Given the description of an element on the screen output the (x, y) to click on. 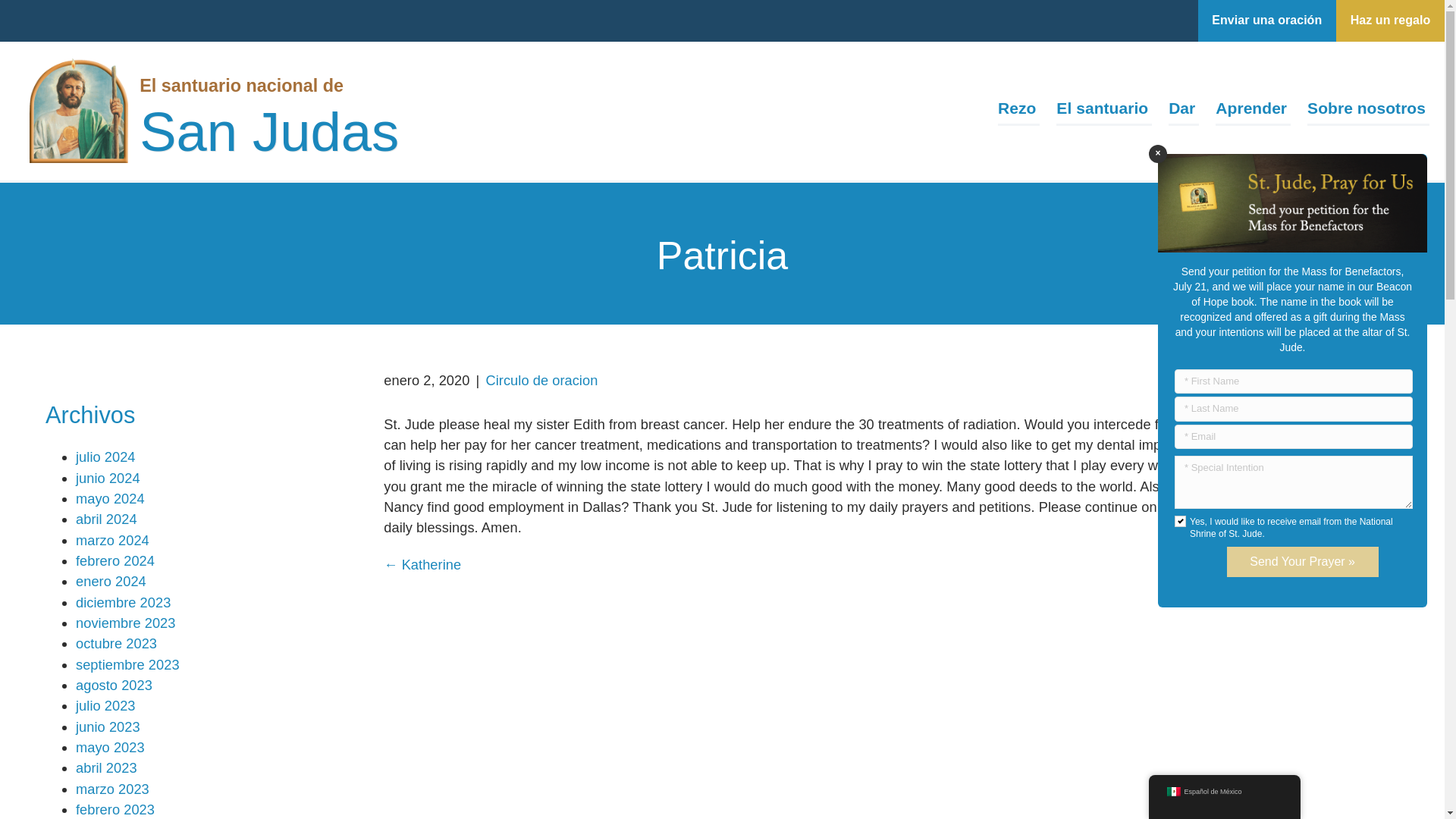
Aprender (1252, 111)
Dar (1183, 111)
San Judas (268, 136)
El santuario (1104, 111)
Rezo (1018, 111)
StJude Logo (78, 110)
El santuario nacional de (241, 84)
